Given the description of an element on the screen output the (x, y) to click on. 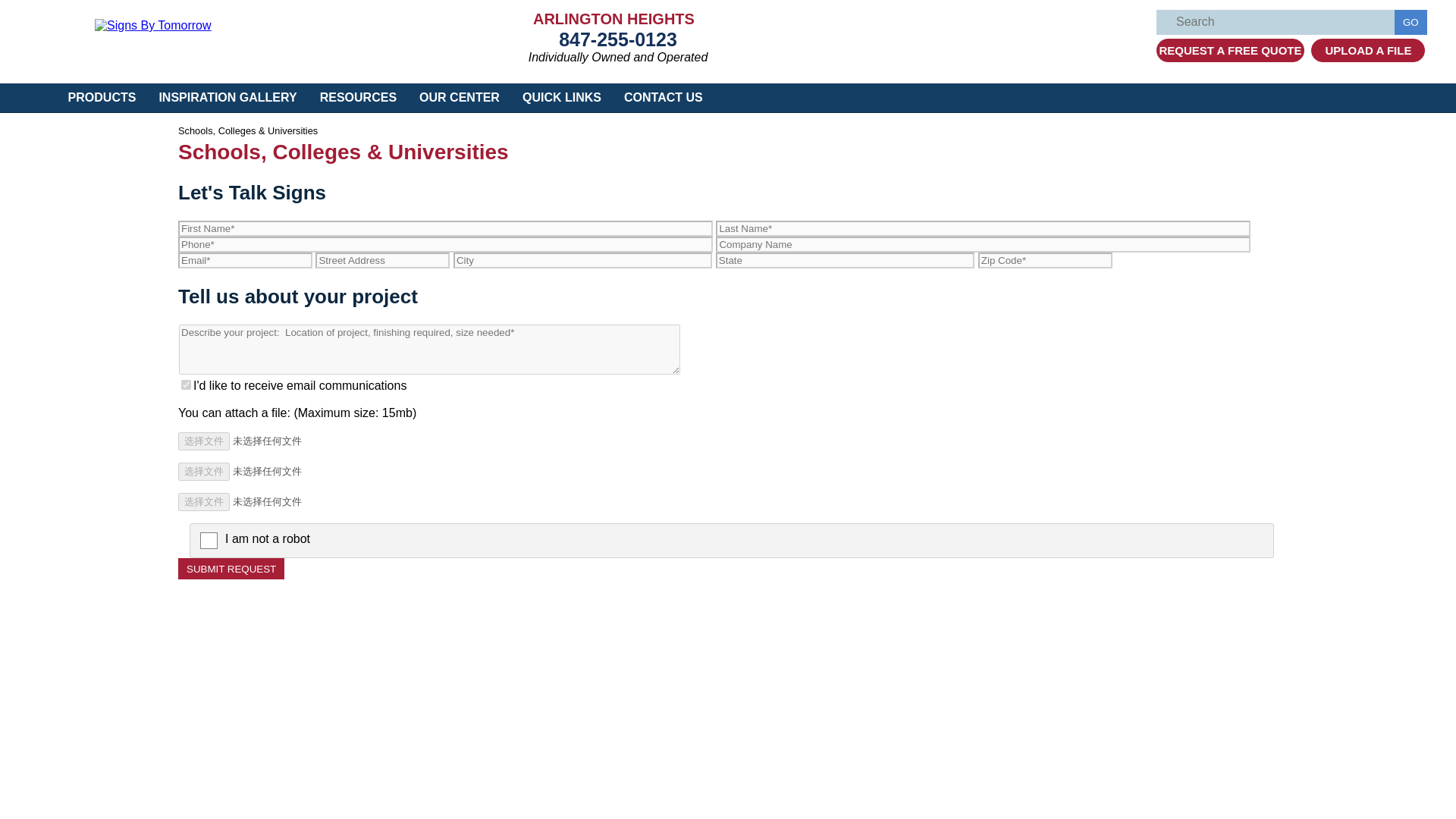
QUICK LINKS (561, 97)
PRODUCTS (101, 97)
847-255-0123 (618, 38)
Go (1410, 22)
Request A Free Quote (1230, 50)
RESOURCES (358, 97)
CALL US 847-255-0123 (618, 38)
Upload a file (1368, 50)
Signs By Tomorrow (152, 24)
Go (1410, 22)
